Given the description of an element on the screen output the (x, y) to click on. 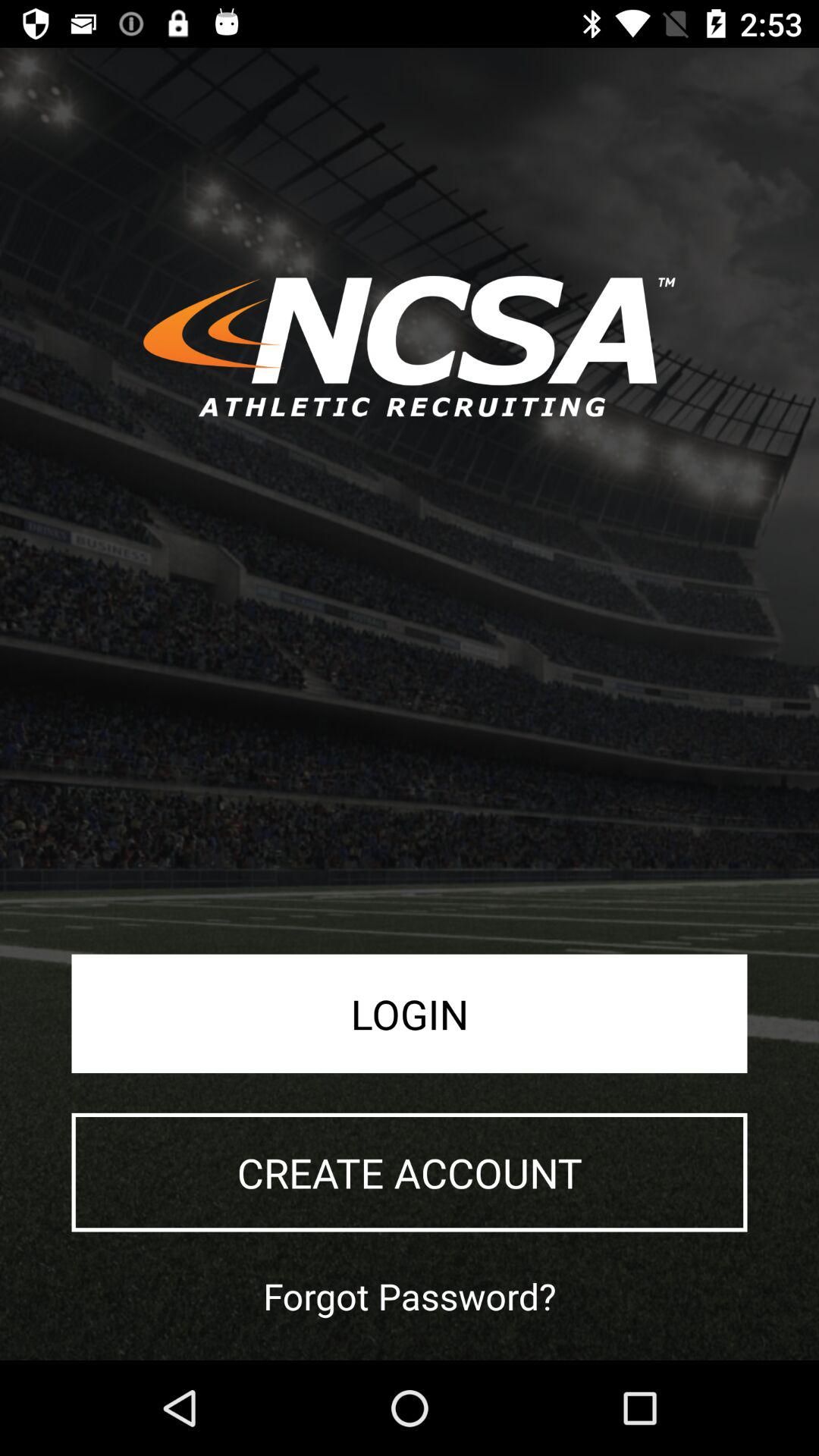
jump to the forgot password? icon (409, 1295)
